Given the description of an element on the screen output the (x, y) to click on. 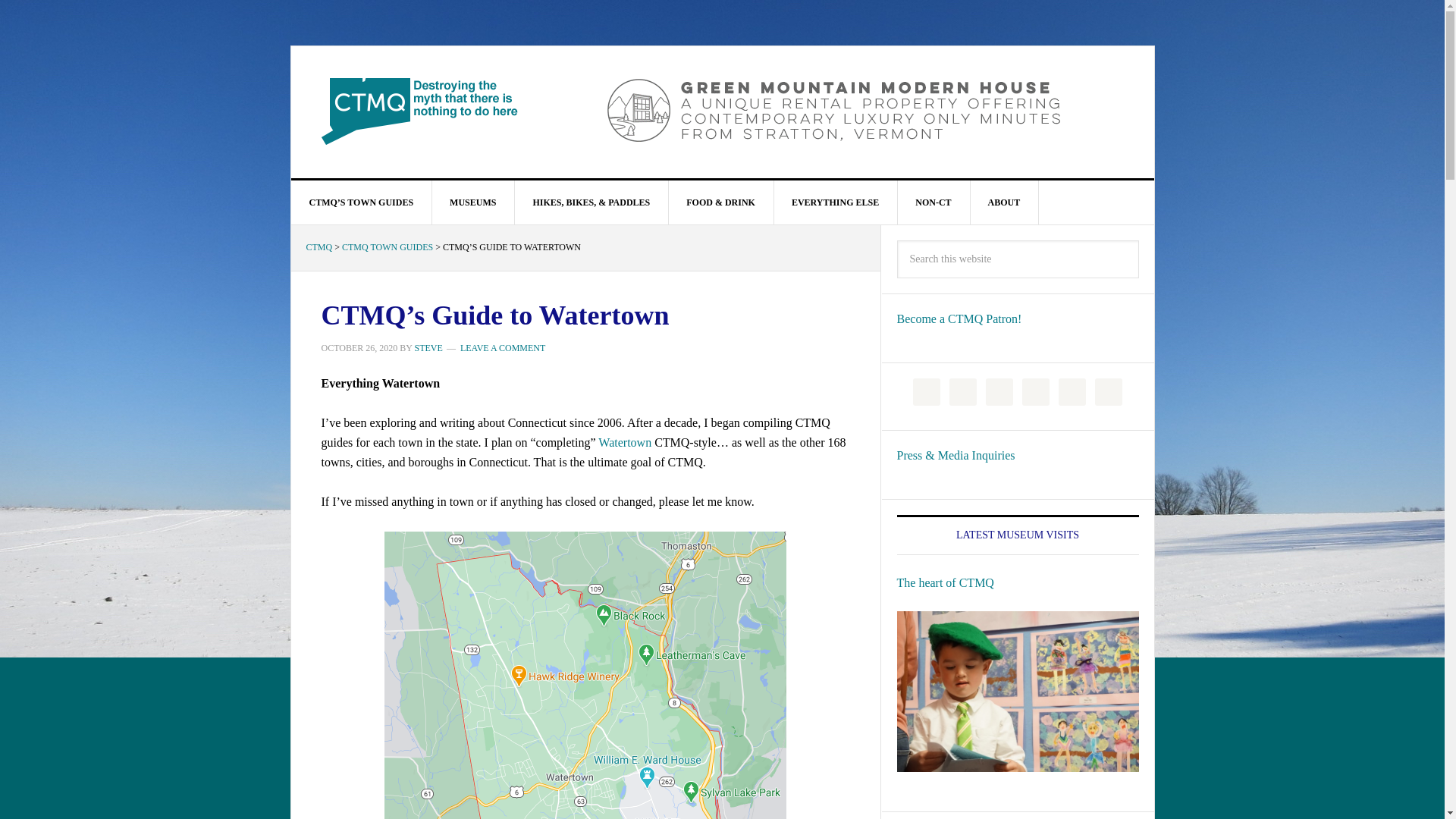
NON-CT (932, 202)
EVERYTHING ELSE (835, 202)
ABOUT (1004, 202)
Go to the CTMQ Town Guides category archives. (387, 246)
MUSEUMS (472, 202)
Go to CTMQ. (319, 246)
CTMQ (419, 110)
